Given the description of an element on the screen output the (x, y) to click on. 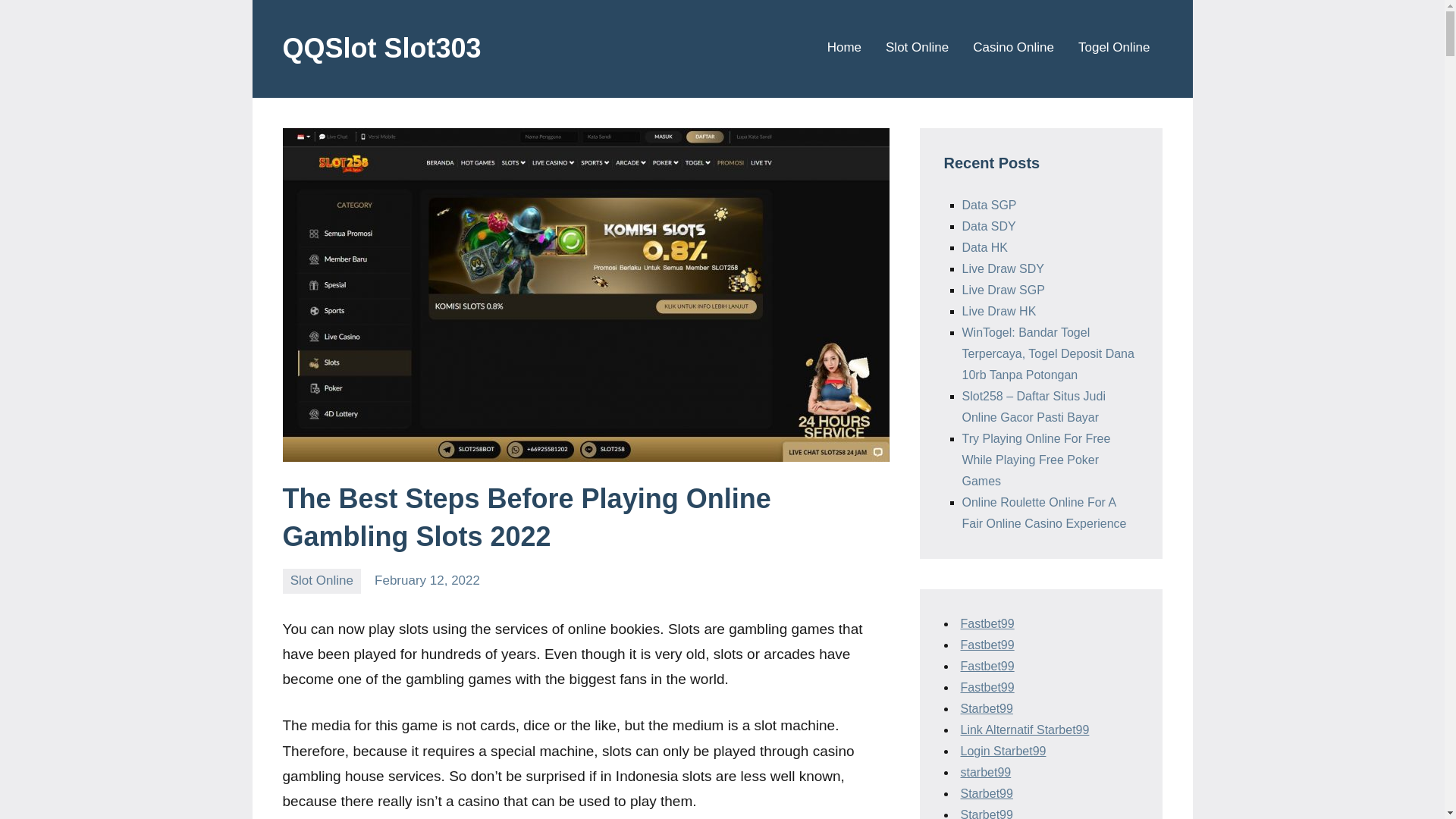
February 12, 2022 (427, 580)
Slot Online (321, 580)
Casino Online (1013, 48)
QQSlot Slot303 (381, 47)
Home (844, 48)
Togel Online (1114, 48)
Slot Online (917, 48)
The Best Steps Before Playing Online Gambling Slots 2022 (526, 517)
